Given the description of an element on the screen output the (x, y) to click on. 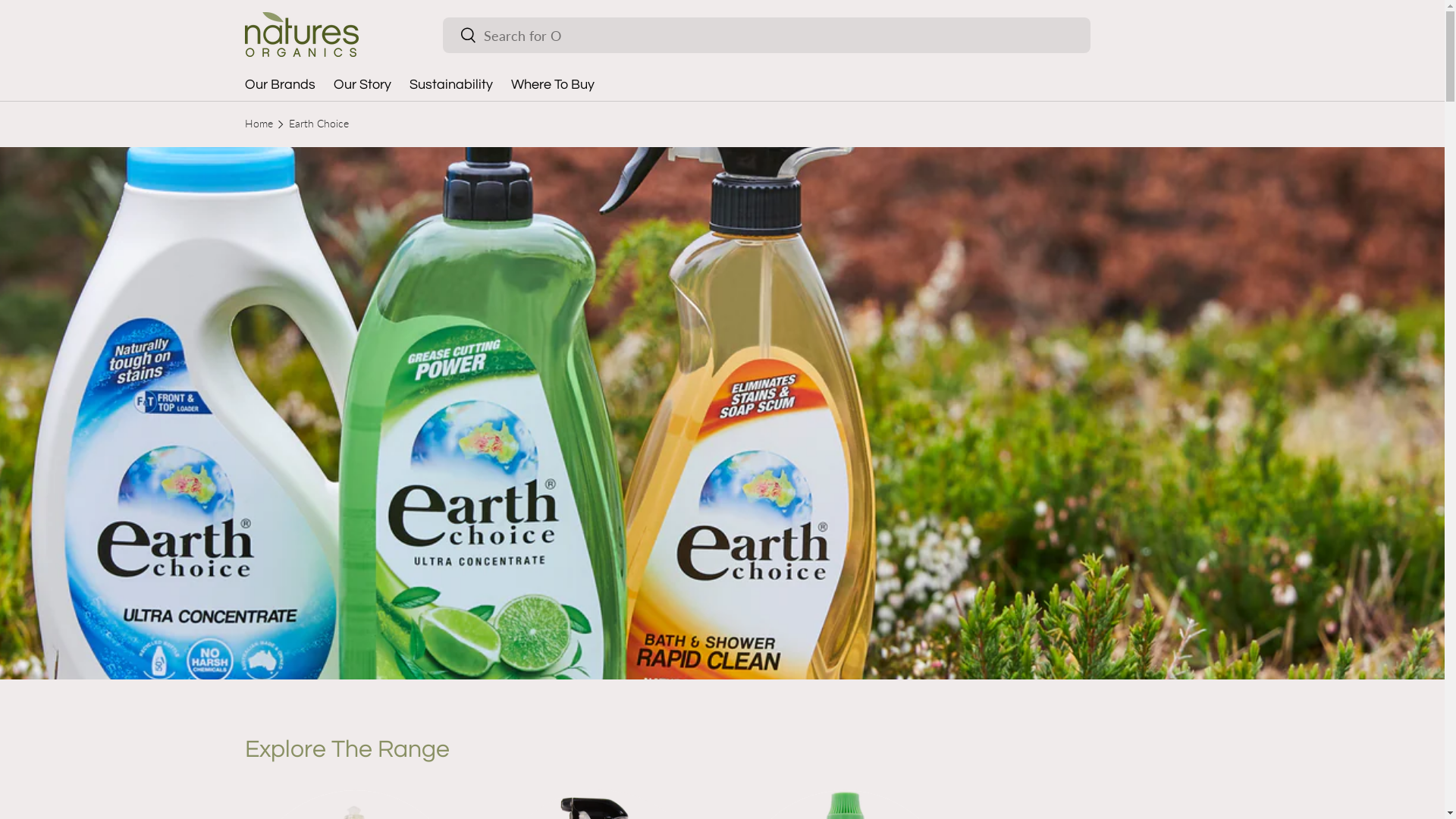
Our Brands Element type: text (279, 84)
Our Story Element type: text (362, 84)
Earth Choice Element type: text (318, 124)
Where To Buy Element type: text (552, 84)
Basket Element type: text (1190, 34)
Home Element type: text (258, 124)
Search Element type: text (459, 35)
Sustainability Element type: text (450, 84)
SKIP TO CONTENT Element type: text (68, 21)
